Given the description of an element on the screen output the (x, y) to click on. 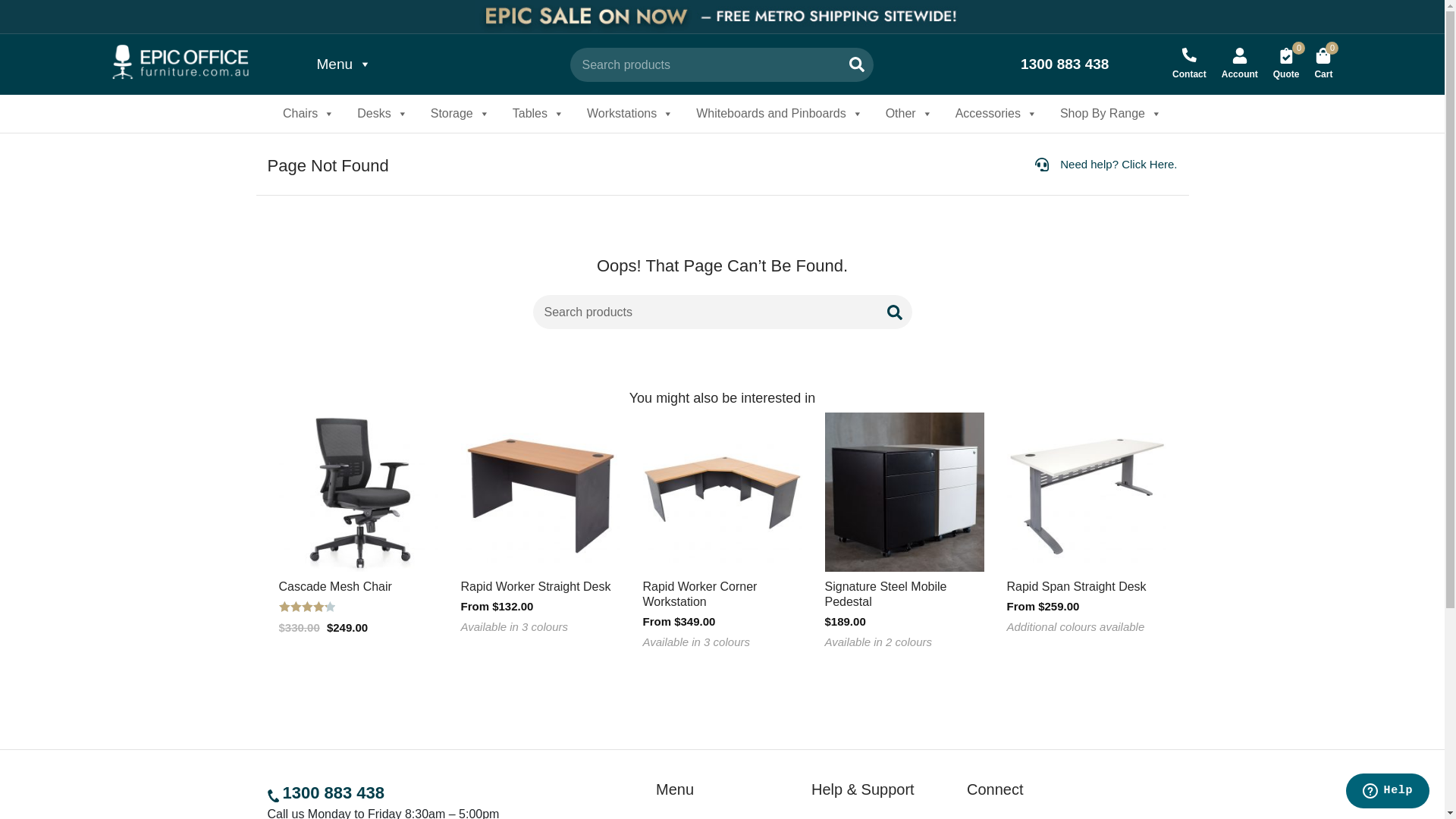
Workstations Element type: text (629, 113)
Contact Element type: text (1189, 64)
Desks Element type: text (381, 113)
Menu Element type: text (344, 64)
Storage Element type: text (460, 113)
0
Quote Element type: text (1286, 64)
Other Element type: text (909, 113)
Account Element type: text (1239, 64)
Cascade Mesh Chair
Rated out of 5
$330.00 $249.00 Element type: text (358, 524)
Need help? Click Here. Element type: text (1105, 164)
Accessories Element type: text (996, 113)
Chairs Element type: text (308, 113)
Whiteboards and Pinboards Element type: text (778, 113)
Tables Element type: text (538, 113)
Shop By Range Element type: text (1110, 113)
1300 883 438 Element type: text (1071, 64)
Opens a widget where you can chat to one of our agents Element type: hover (1387, 792)
